Given the description of an element on the screen output the (x, y) to click on. 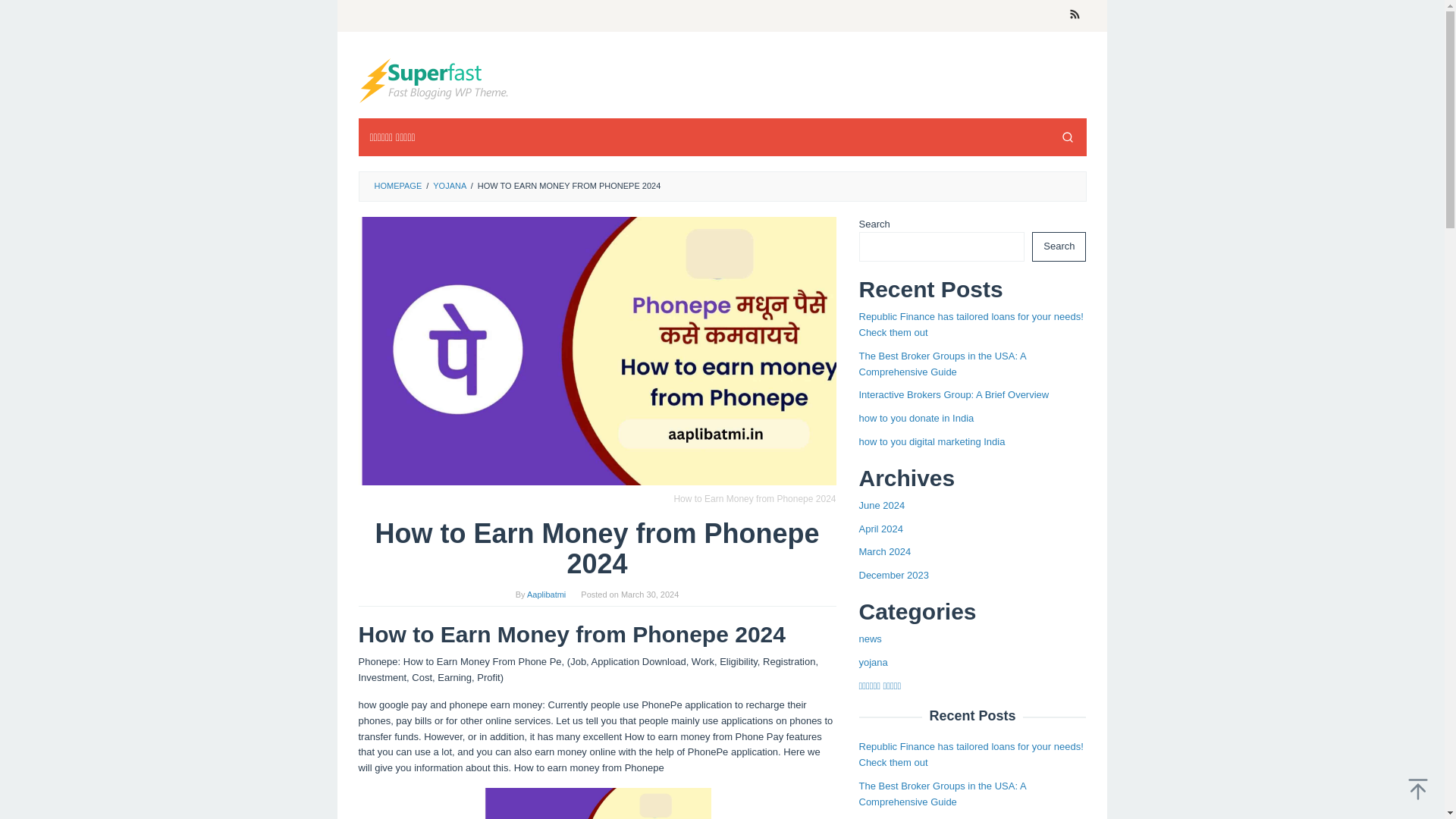
The Best Broker Groups in the USA: A Comprehensive Guide (942, 363)
Interactive Brokers Group: A Brief Overview (953, 394)
Aaplibatmi (433, 79)
Search (1067, 136)
Search (1059, 246)
YOJANA (448, 185)
Permalink to: Aaplibatmi (546, 593)
April 2024 (880, 528)
June 2024 (881, 505)
HOMEPAGE (398, 185)
how to you digital marketing India (931, 441)
Aaplibatmi (433, 80)
March 2024 (885, 551)
Aaplibatmi (546, 593)
how to you donate in India (916, 418)
